Given the description of an element on the screen output the (x, y) to click on. 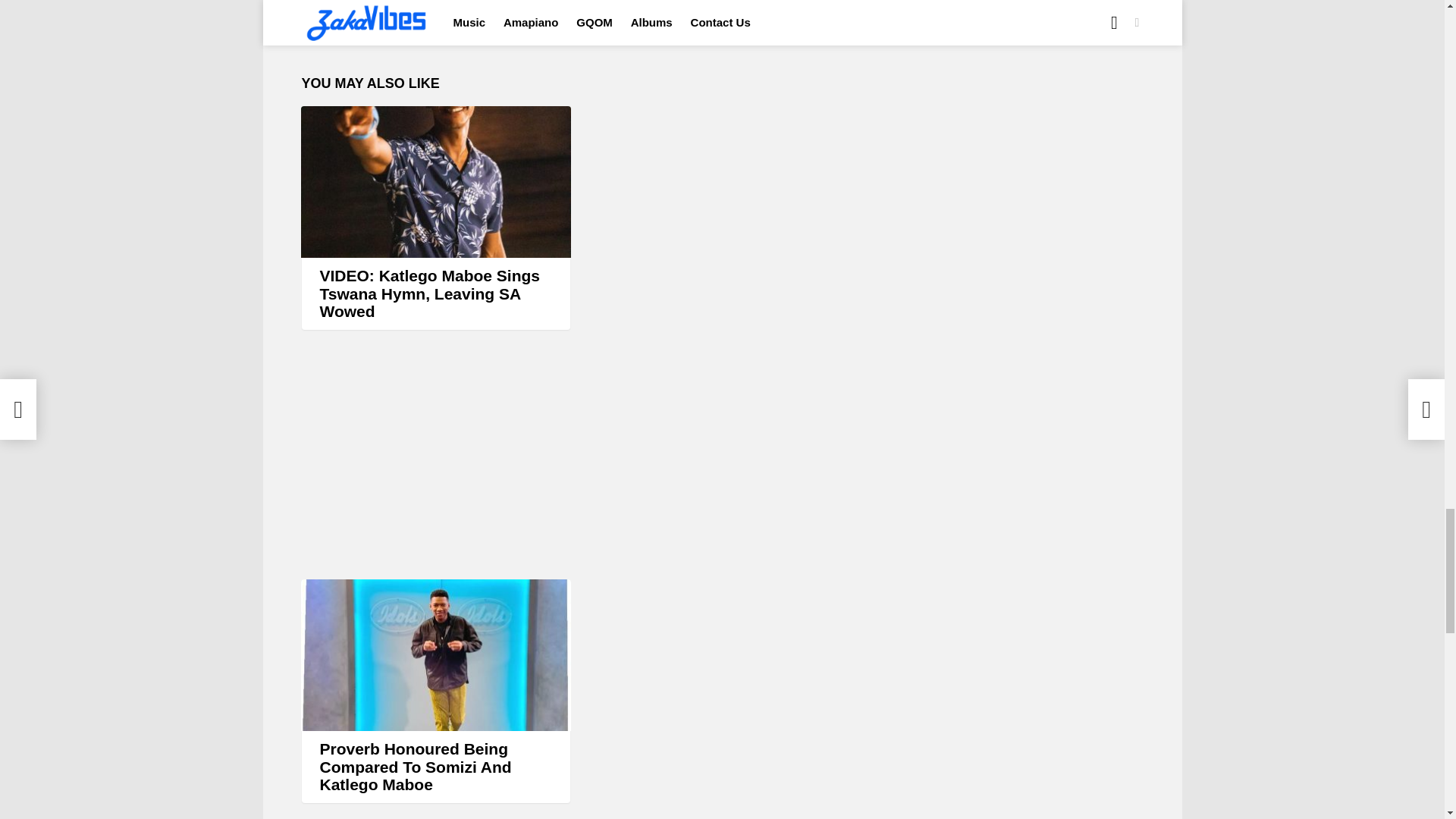
VIDEO: Katlego Maboe Sings Tswana Hymn, Leaving SA Wowed (434, 181)
